Given the description of an element on the screen output the (x, y) to click on. 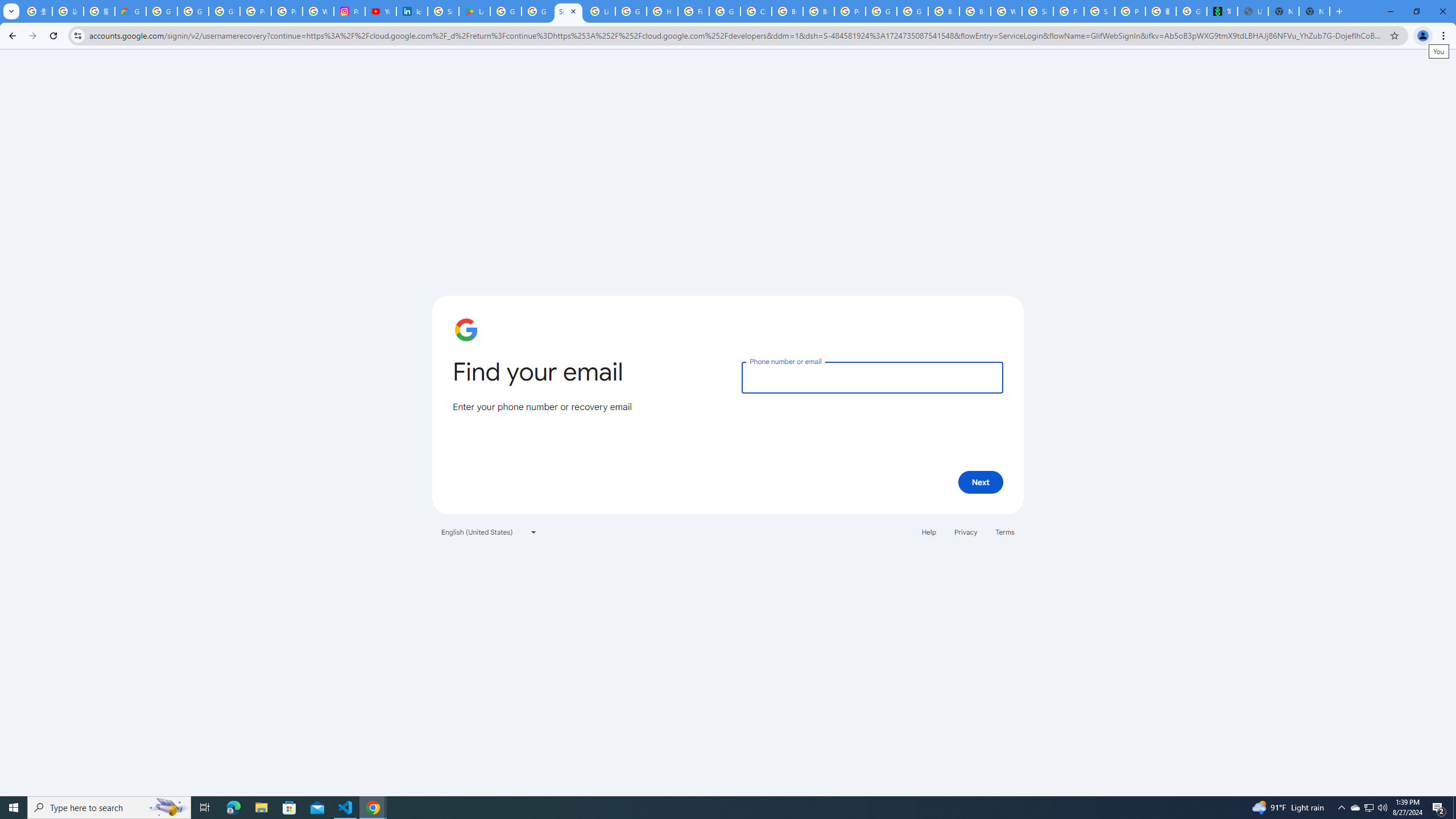
Last Shelter: Survival - Apps on Google Play (474, 11)
Sign in - Google Accounts (568, 11)
Privacy Help Center - Policies Help (286, 11)
How do I create a new Google Account? - Google Account Help (662, 11)
Restore (1416, 11)
Forward (32, 35)
Terms (1005, 531)
Minimize (1390, 11)
